Given the description of an element on the screen output the (x, y) to click on. 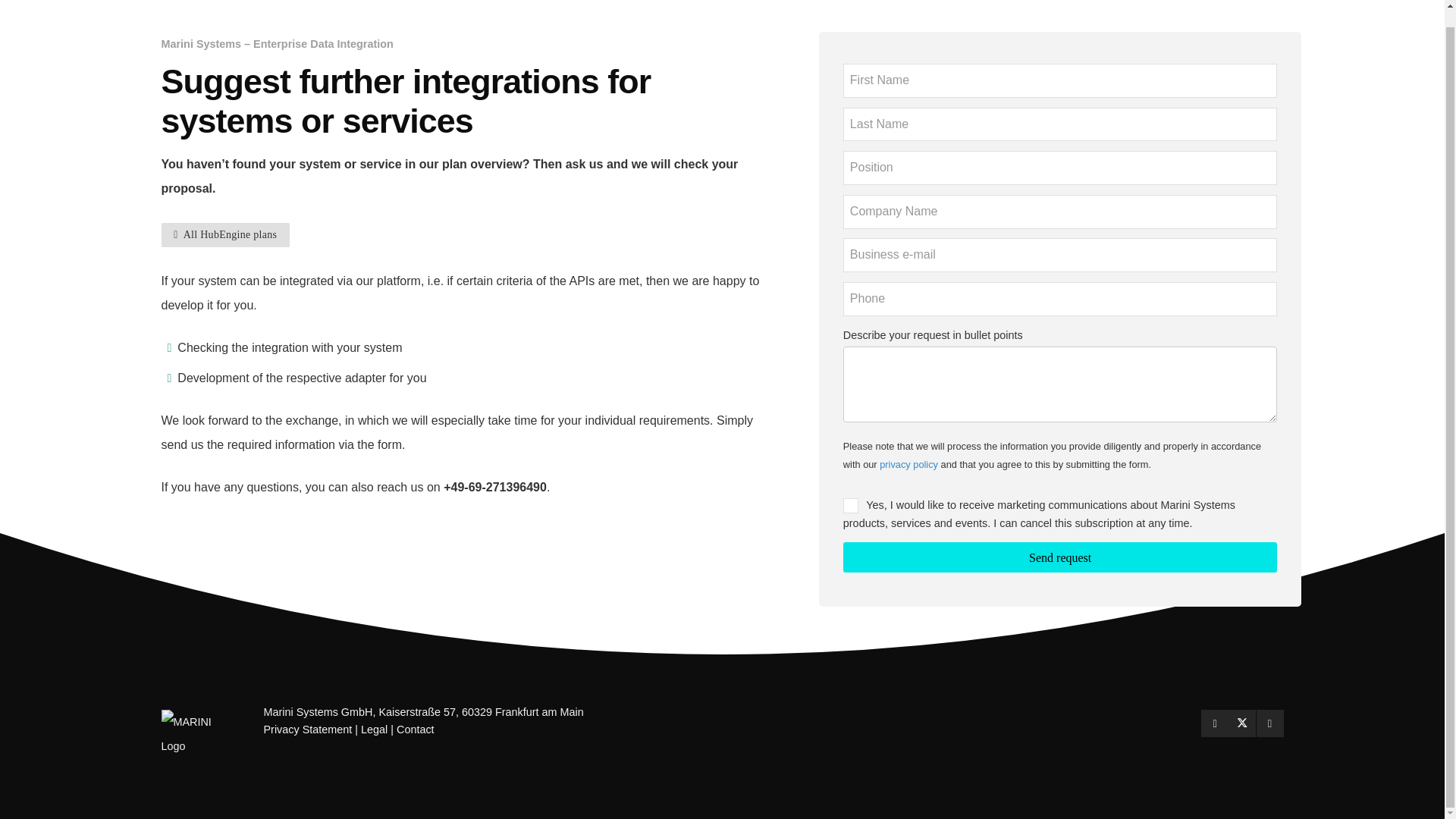
Send request (1060, 557)
YouTube (1268, 723)
LinkedIn (1214, 723)
Privacy Statement (307, 729)
1 (851, 505)
Contact (414, 729)
All HubEngine plans (224, 234)
Twitter (1241, 723)
Legal (374, 729)
privacy policy (908, 464)
